Given the description of an element on the screen output the (x, y) to click on. 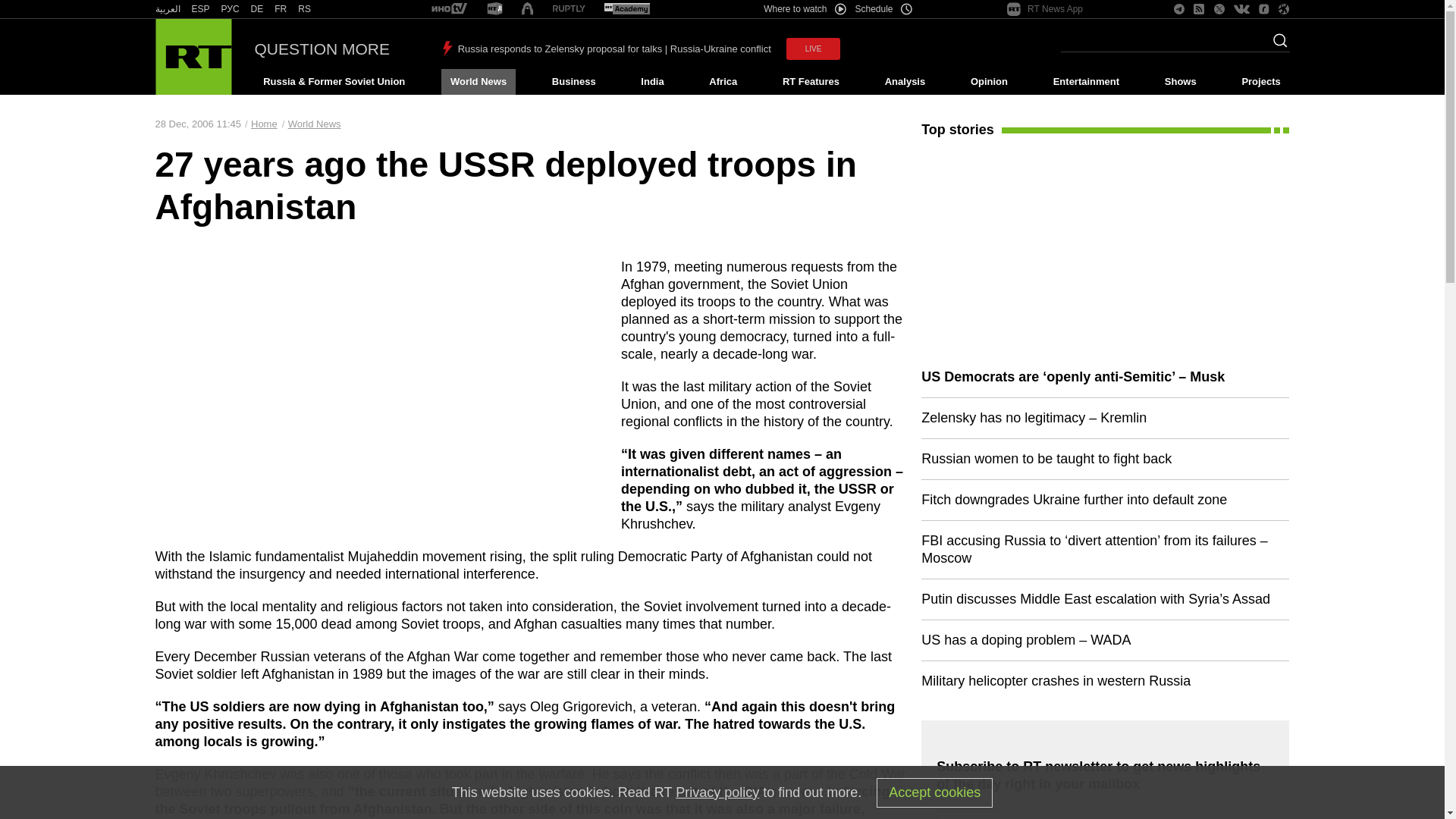
RT  (256, 9)
World News (478, 81)
RT  (626, 9)
Search (1276, 44)
Projects (1261, 81)
RT  (230, 9)
RT  (199, 9)
DE (256, 9)
RT  (280, 9)
Opinion (988, 81)
RT  (494, 9)
Analysis (905, 81)
RT  (304, 9)
RT  (448, 9)
LIVE (813, 48)
